Given the description of an element on the screen output the (x, y) to click on. 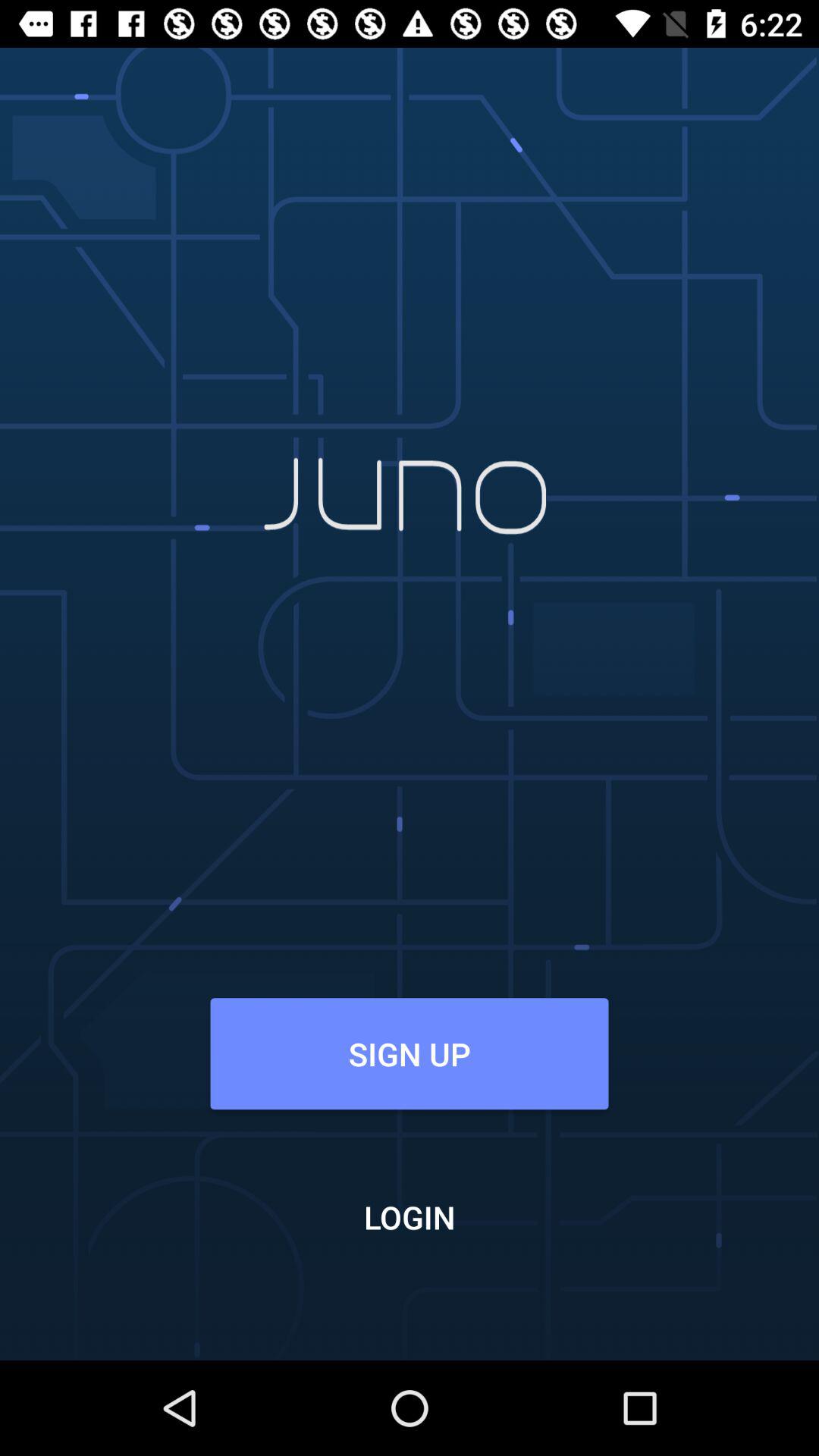
select the sign up item (409, 1053)
